Given the description of an element on the screen output the (x, y) to click on. 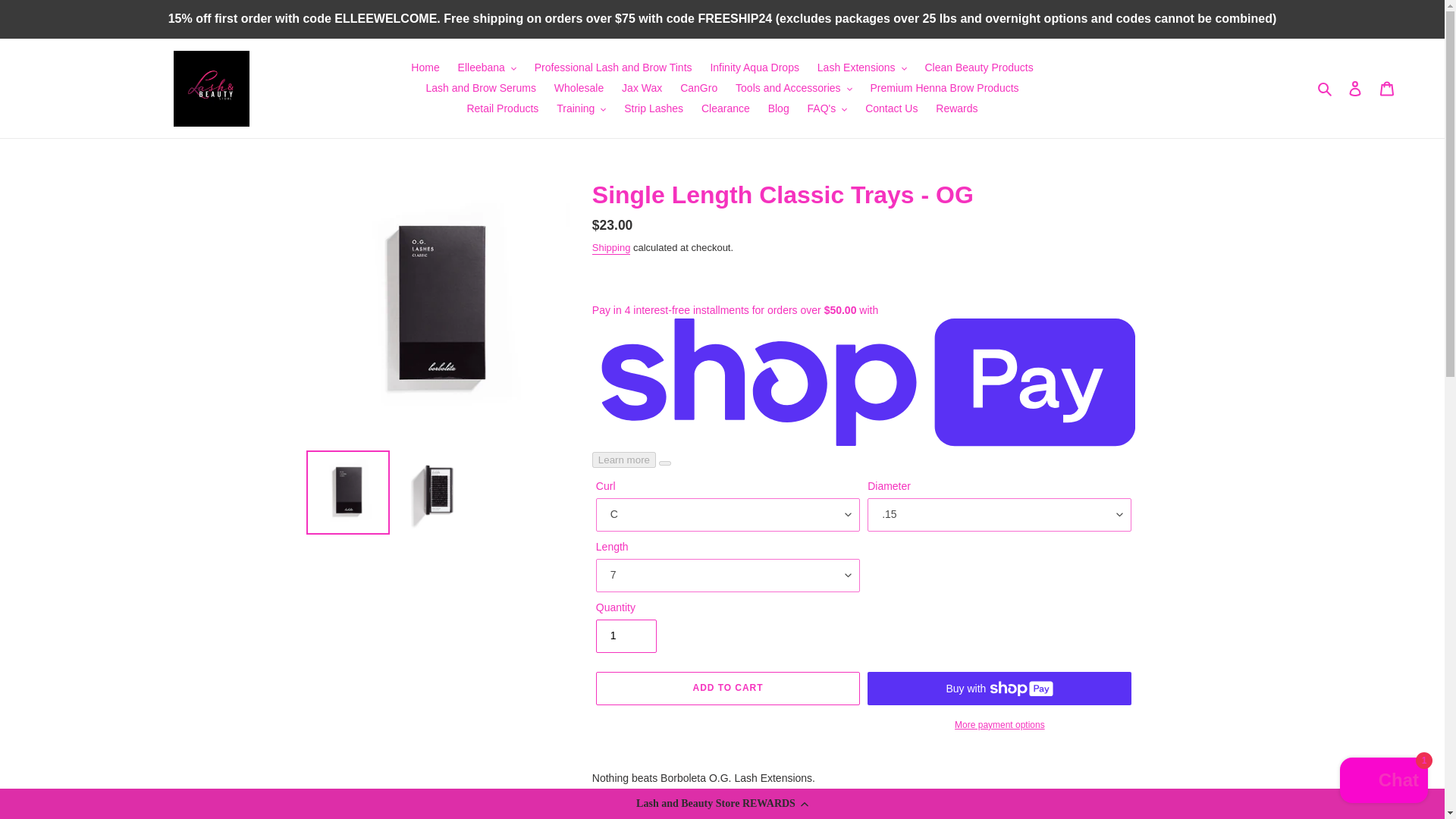
Retail Products (502, 108)
Premium Henna Brow Products (944, 87)
CanGro (698, 87)
Professional Lash and Brow Tints (613, 67)
Home (424, 67)
Lash Extensions (861, 67)
1 (625, 635)
Clean Beauty Products (979, 67)
Infinity Aqua Drops (753, 67)
Tools and Accessories (794, 87)
Lash and Brow Serums (480, 87)
Shopify online store chat (1383, 781)
Jax Wax (641, 87)
Elleebana (486, 67)
Training (580, 108)
